Given the description of an element on the screen output the (x, y) to click on. 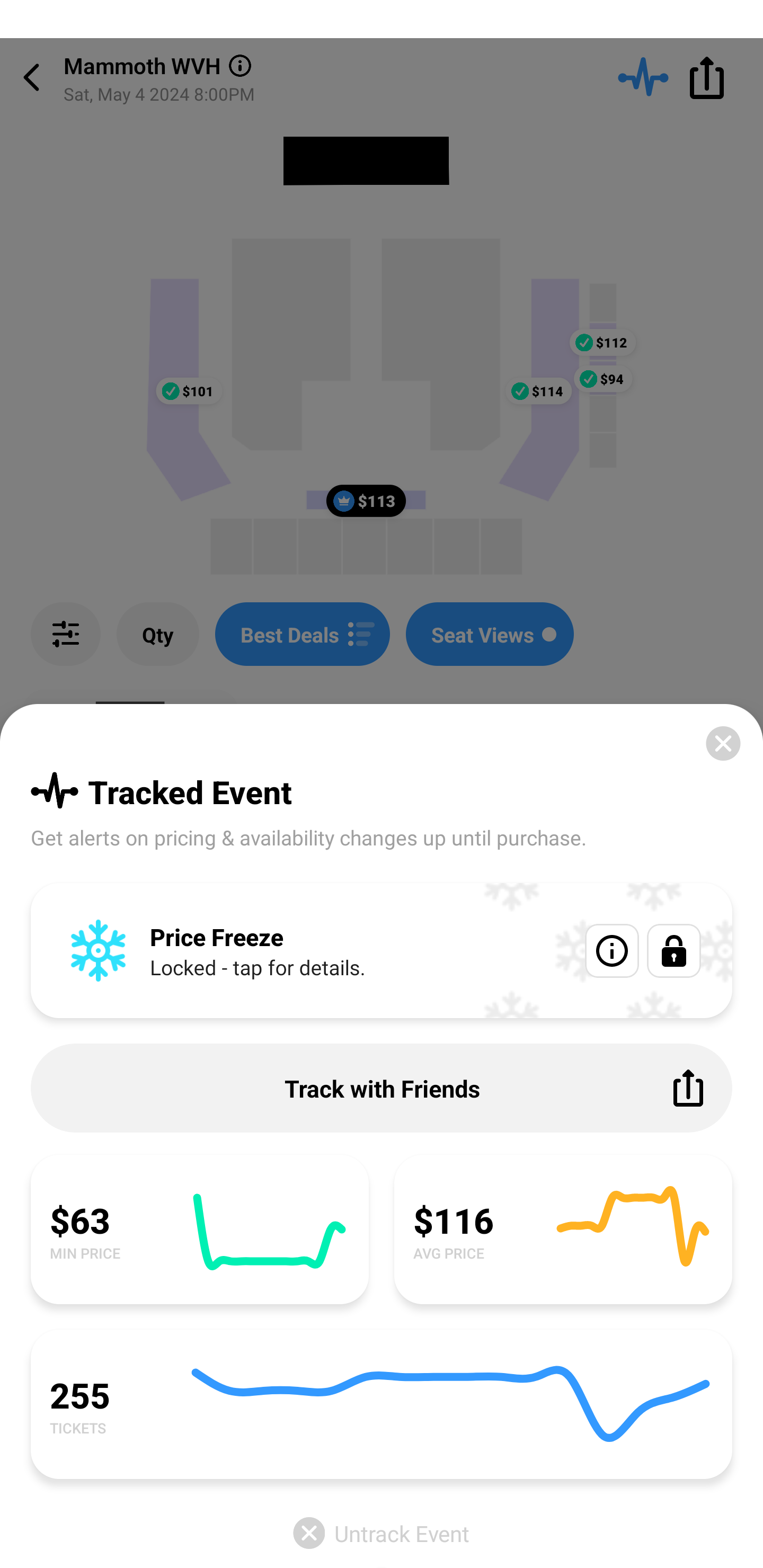
Track with Friends (381, 1088)
Untrack Event (381, 1533)
